Given the description of an element on the screen output the (x, y) to click on. 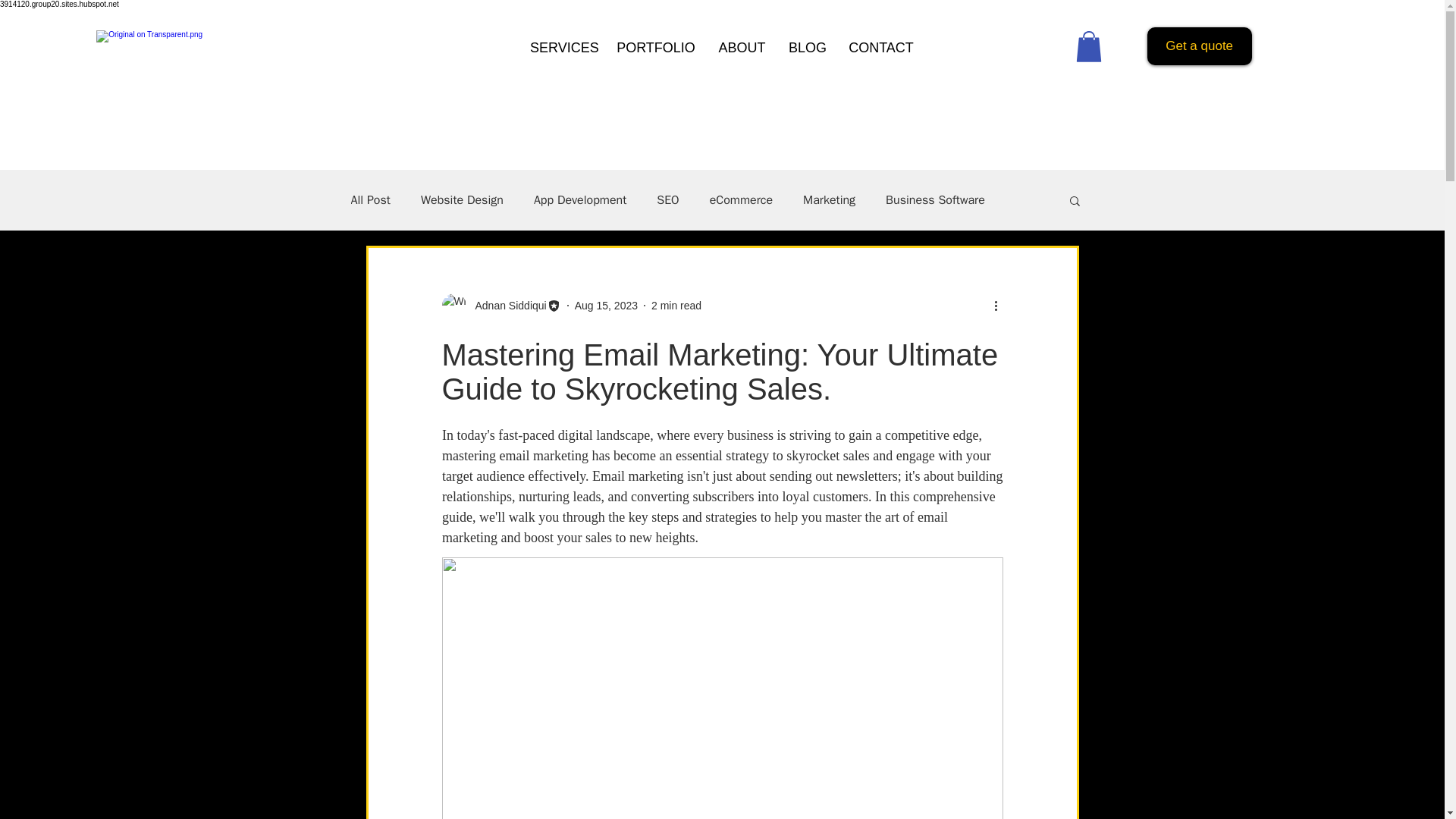
SERVICES (561, 47)
BLOG (807, 47)
CONTACT (880, 47)
Business Software (935, 200)
Adnan Siddiqui (505, 304)
ABOUT (741, 47)
Adnan Siddiqui (500, 305)
App Development (580, 200)
Get a quote (1199, 46)
2 min read (675, 304)
